Given the description of an element on the screen output the (x, y) to click on. 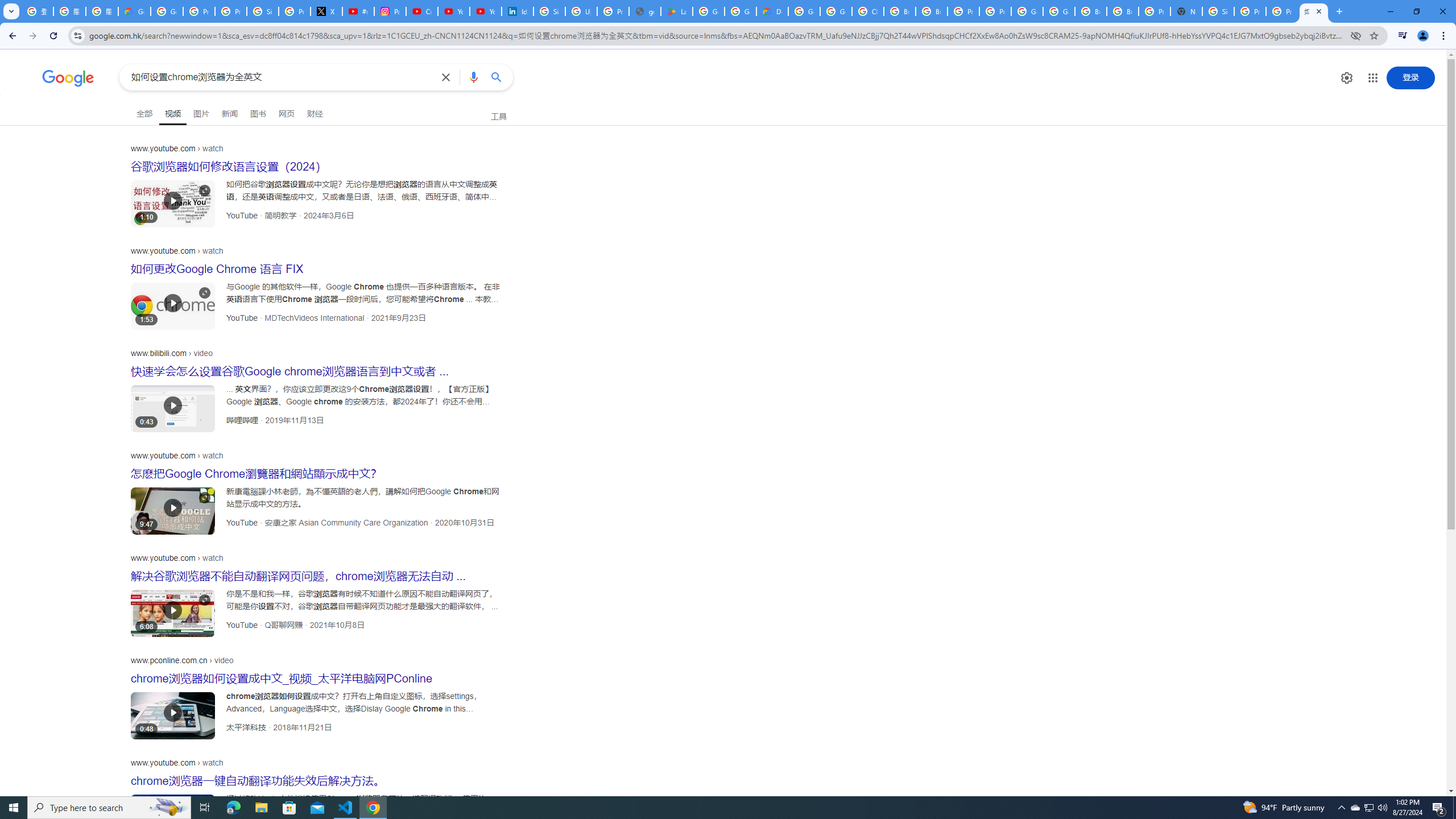
Google Cloud Privacy Notice (134, 11)
Sign in - Google Accounts (549, 11)
